Given the description of an element on the screen output the (x, y) to click on. 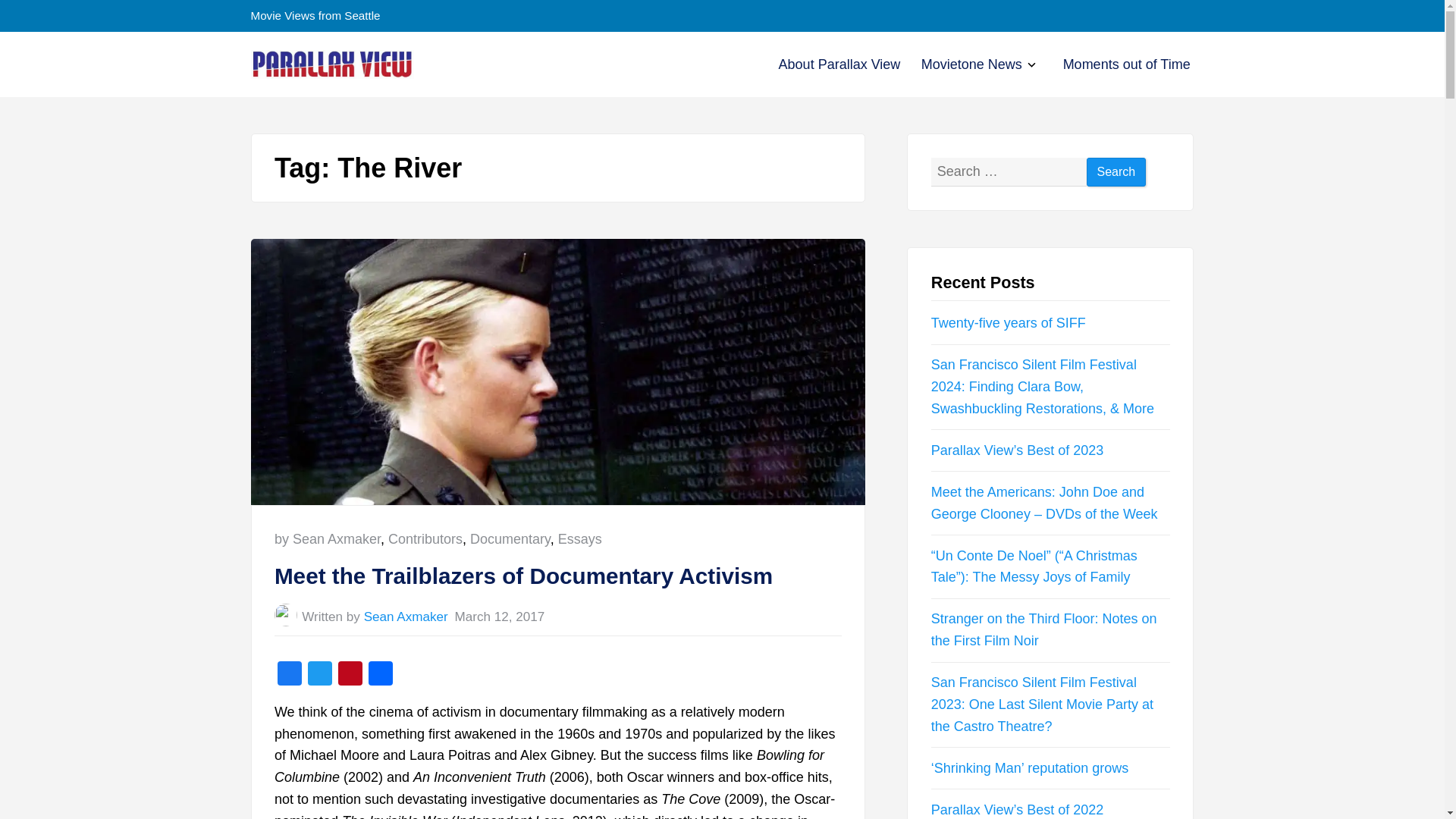
Search (1115, 172)
Essays (579, 539)
Facebook (289, 674)
Movietone News (971, 64)
Movietone News (971, 64)
Pinterest (349, 674)
Twitter (319, 674)
Pinterest (349, 674)
March 12, 2017 (499, 616)
Share (380, 674)
Moments out of Time (1126, 64)
About Parallax View (839, 64)
Documentary (510, 539)
Moments out of Time (1126, 64)
Contributors (425, 539)
